Given the description of an element on the screen output the (x, y) to click on. 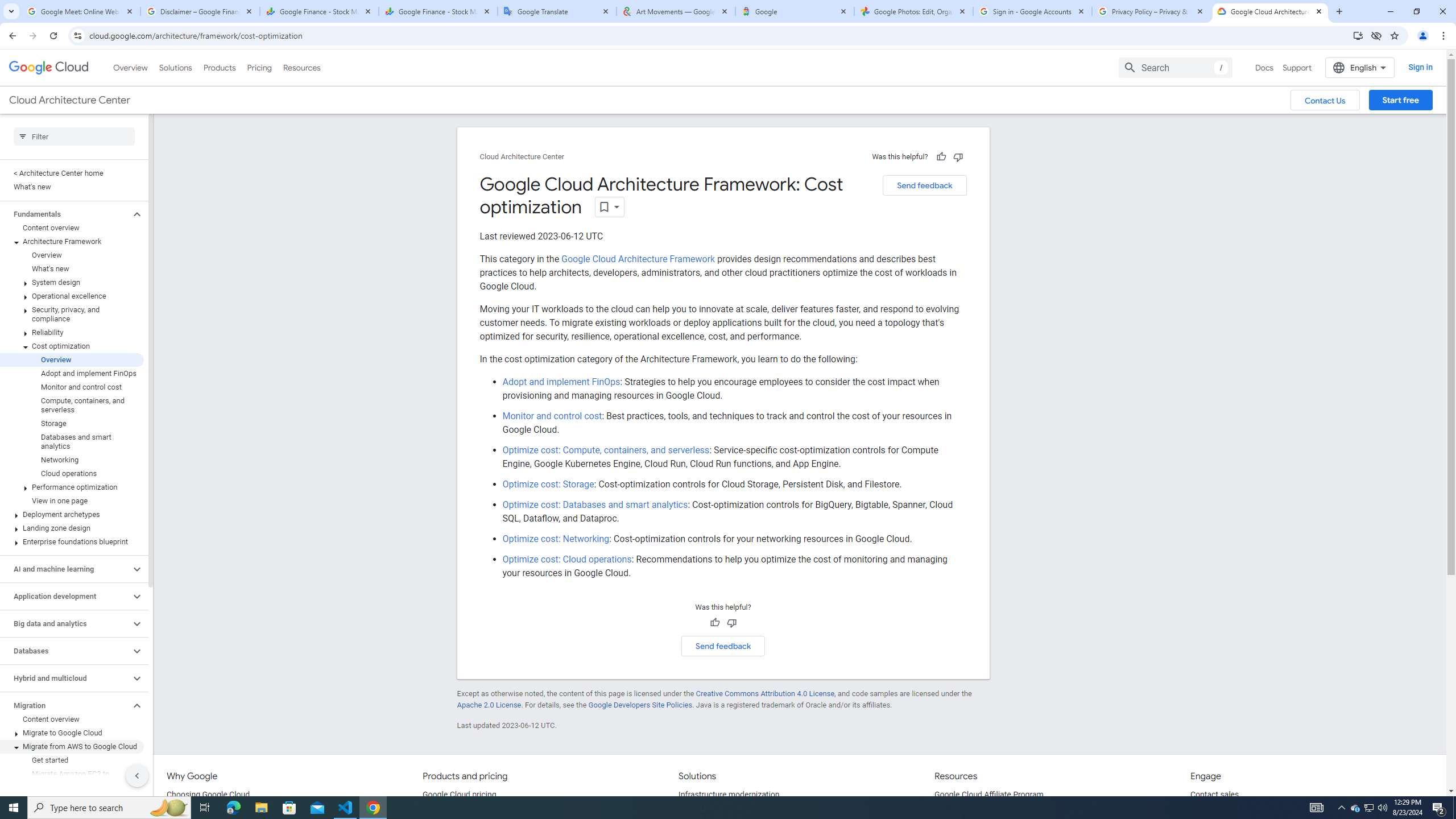
Enterprise foundations blueprint (72, 541)
Docs, selected (1264, 67)
Application development (64, 596)
Security, privacy, and compliance (72, 314)
View in one page (72, 500)
Migration (64, 705)
